Given the description of an element on the screen output the (x, y) to click on. 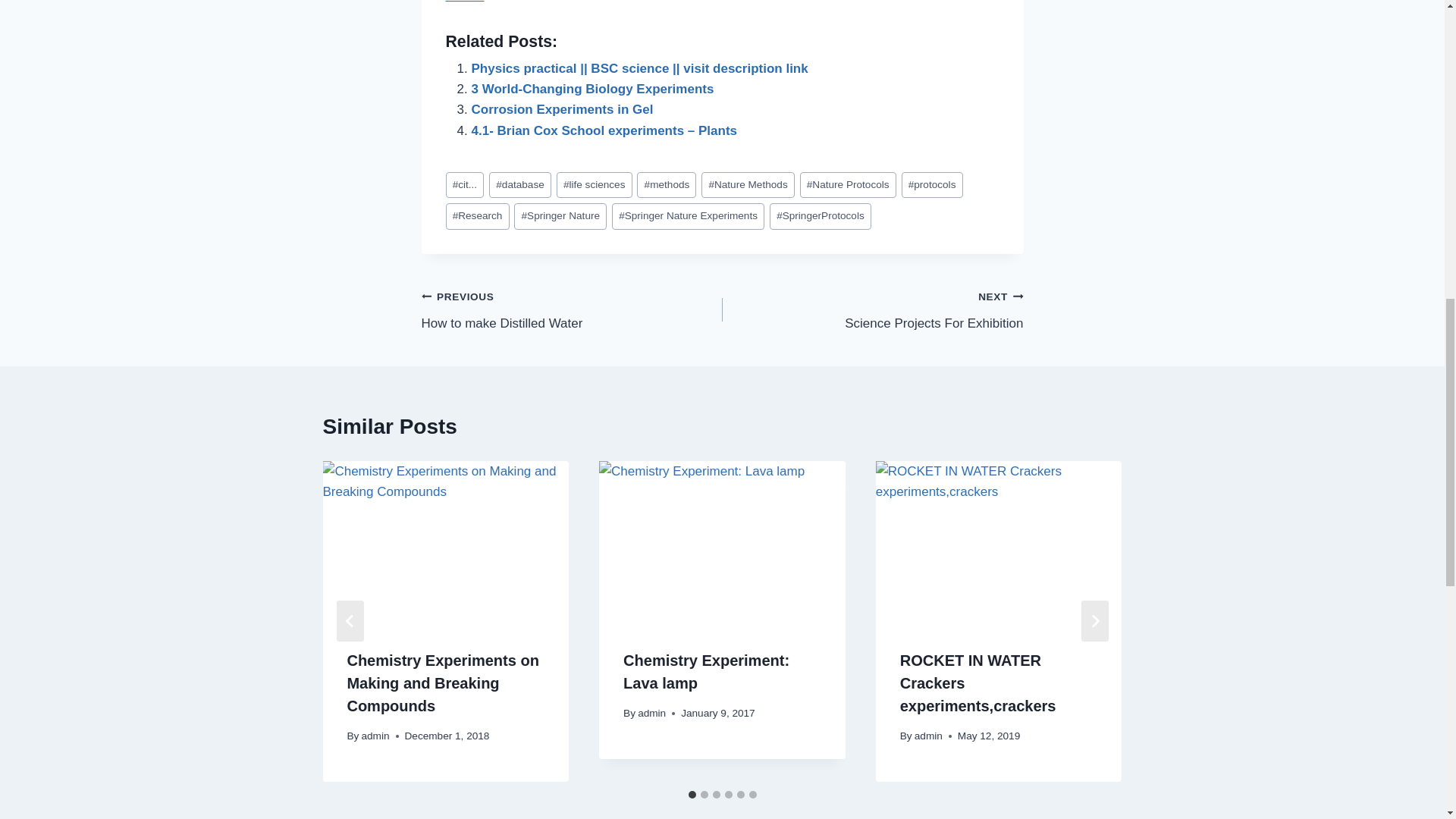
source (464, 1)
life sciences (593, 185)
Corrosion Experiments in Gel (562, 109)
SpringerProtocols (820, 216)
Springer Nature (572, 309)
3 World-Changing Biology Experiments (560, 216)
database (592, 88)
methods (520, 185)
Nature Methods (666, 185)
